Given the description of an element on the screen output the (x, y) to click on. 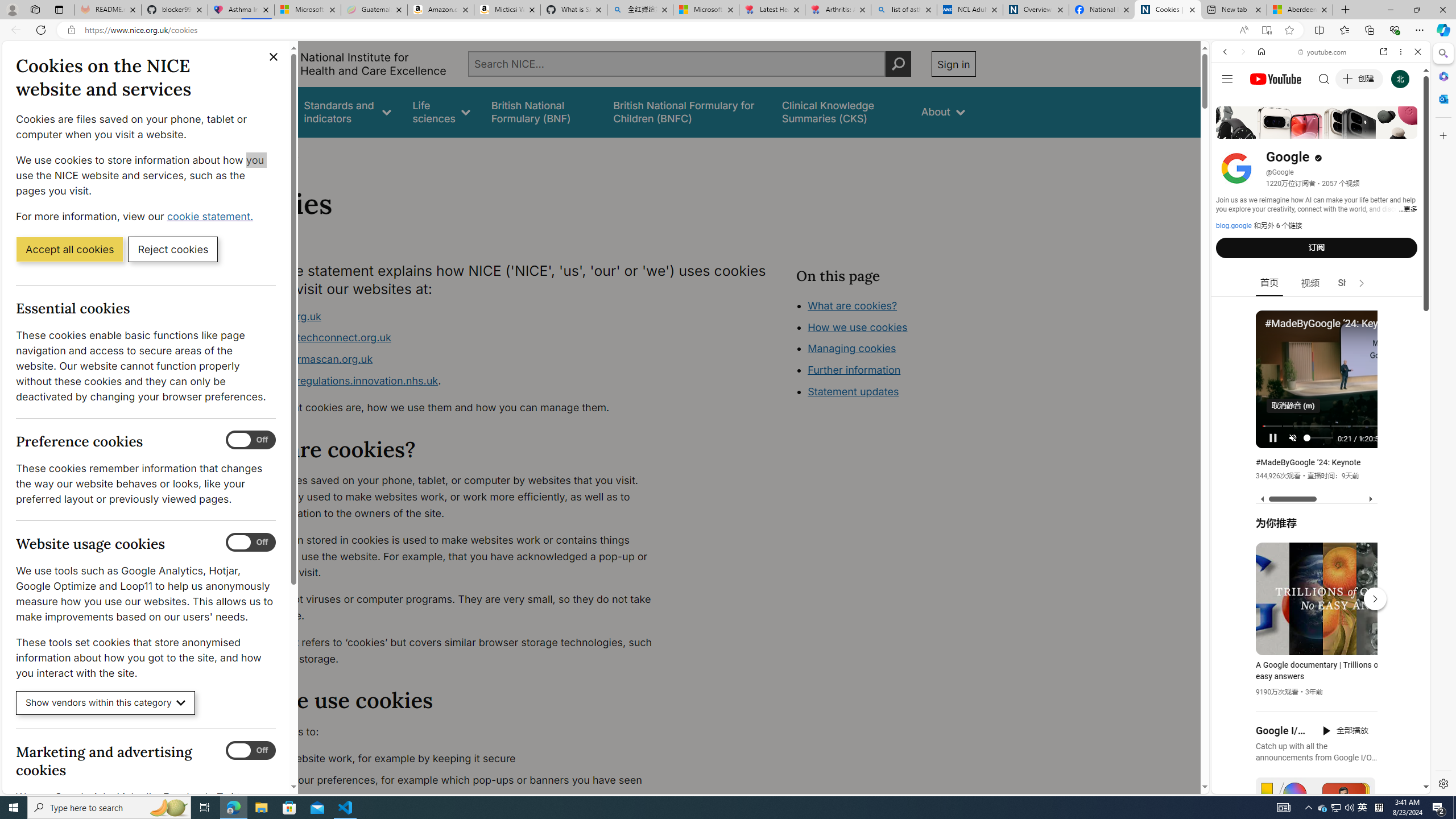
Show More Music (1390, 310)
Life sciences (440, 111)
Close cookie banner (273, 56)
Search Filter, VIDEOS (1300, 129)
Search Filter, Search Tools (1350, 129)
#you (1315, 659)
Home (241, 152)
Actions for this site (1371, 661)
Life sciences (440, 111)
